Given the description of an element on the screen output the (x, y) to click on. 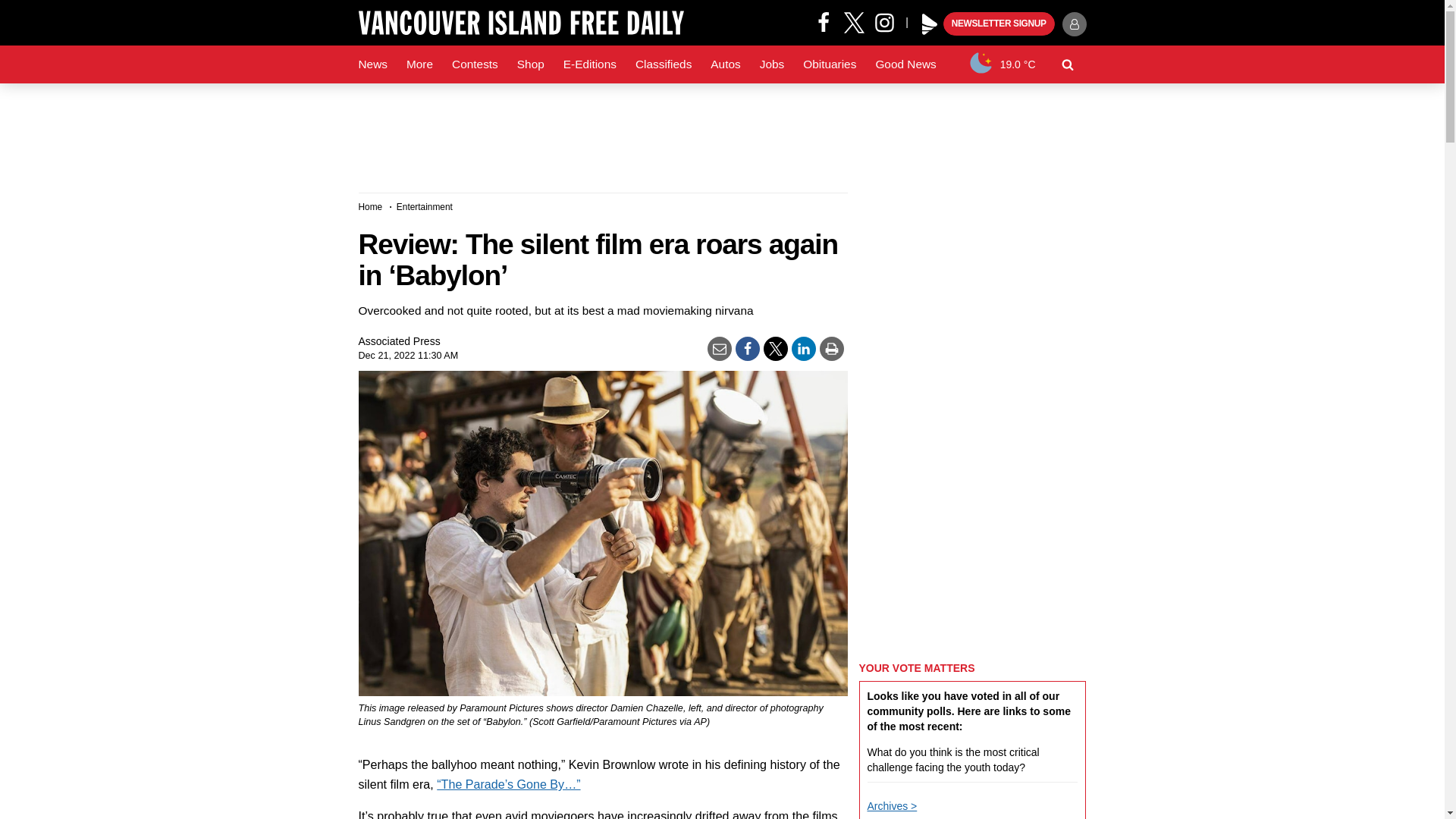
NEWSLETTER SIGNUP (998, 24)
News (372, 64)
Play (929, 24)
3rd party ad content (721, 131)
Facebook (823, 21)
Black Press Media (929, 24)
Instagram (889, 21)
X (853, 21)
